Given the description of an element on the screen output the (x, y) to click on. 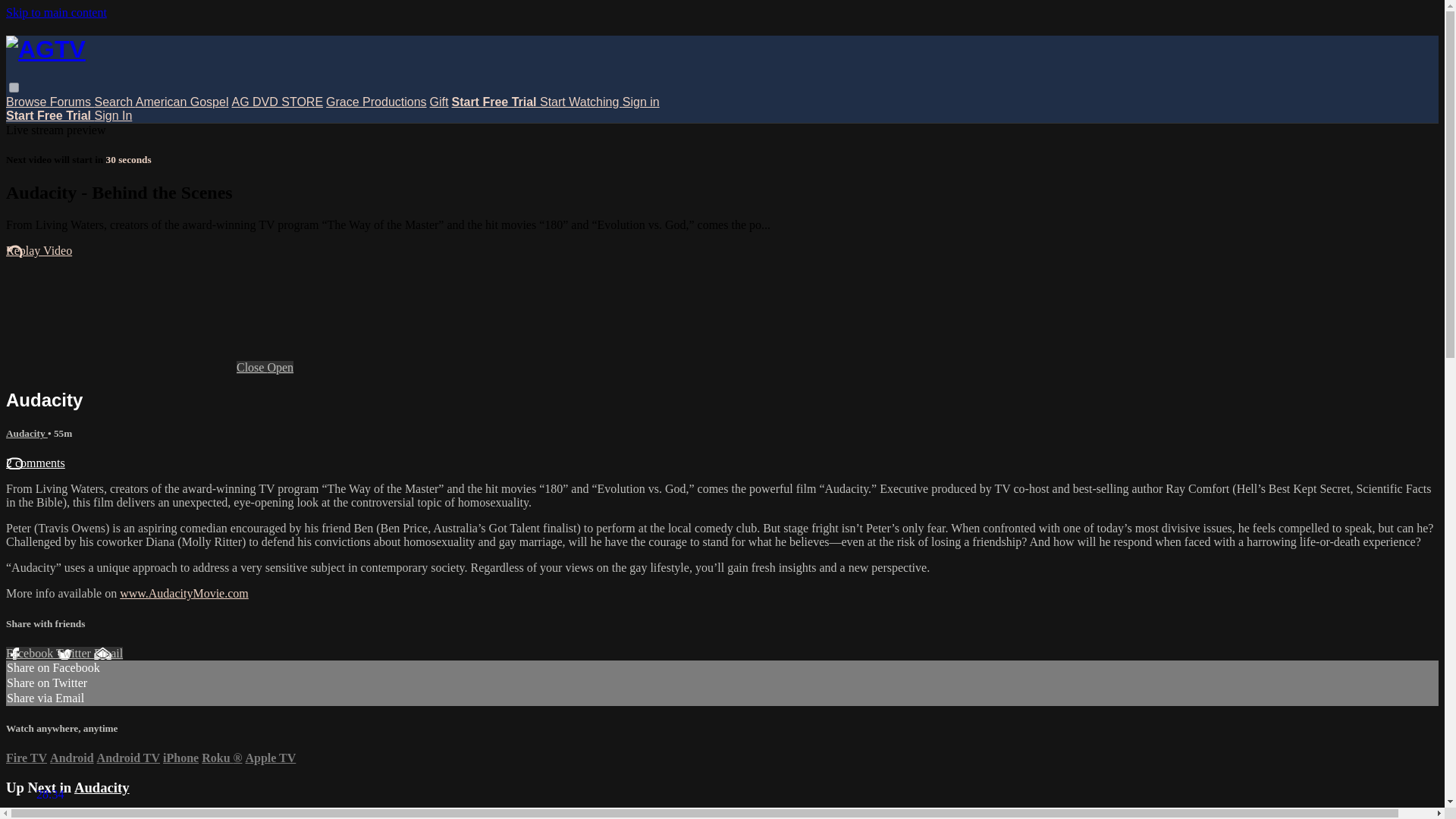
Start Watching (581, 101)
Audacity (101, 787)
Replay Video (38, 250)
iPhone (180, 757)
Search (114, 101)
2 comments (35, 462)
Forums (71, 101)
Apple TV (269, 757)
View Latest Comments (35, 462)
Twitter (75, 653)
Start Free Trial (49, 115)
Email (108, 653)
Sign in (641, 101)
on (13, 87)
Audacity (26, 432)
